Given the description of an element on the screen output the (x, y) to click on. 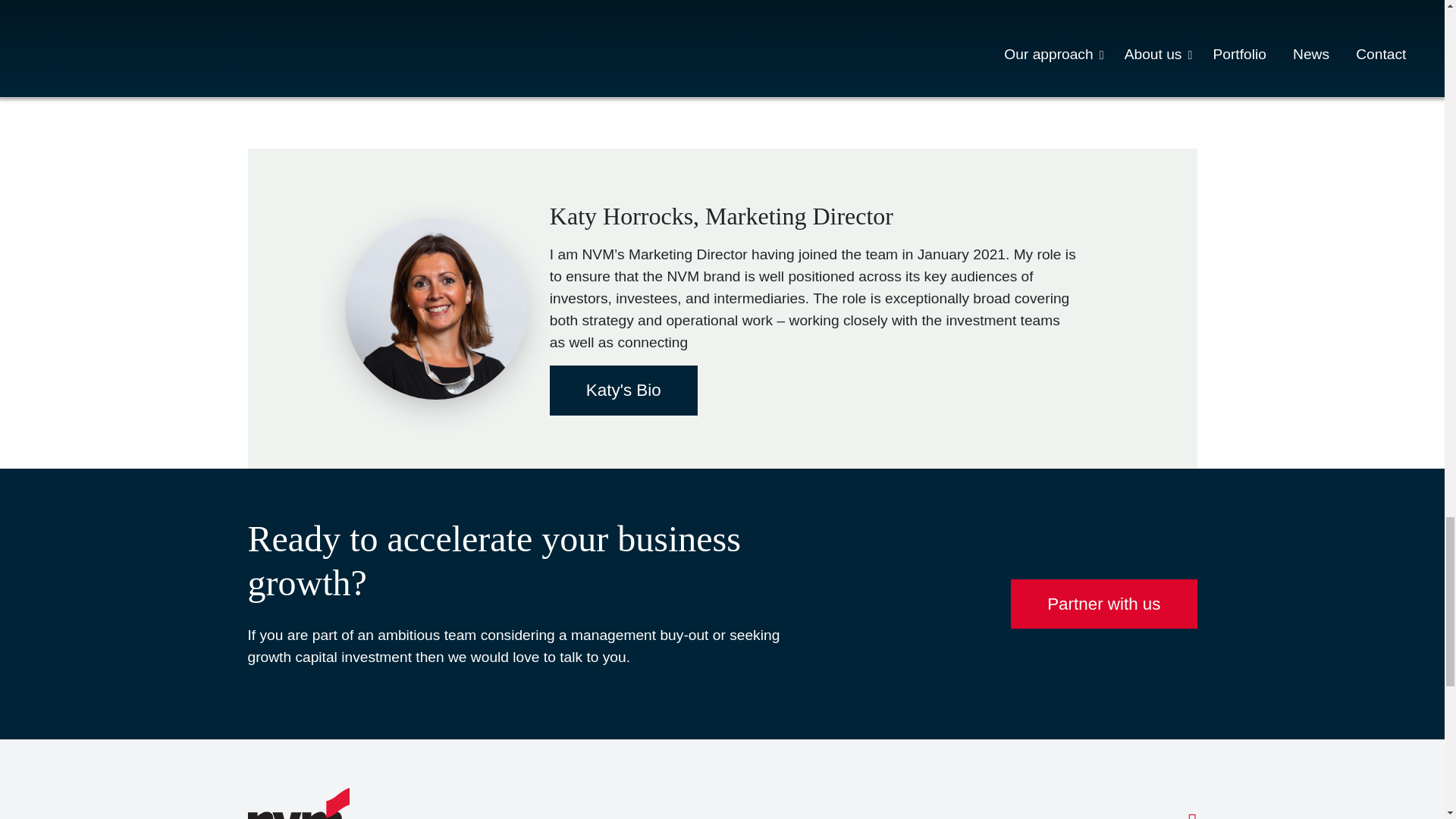
Katy's Bio (623, 390)
Partner with us (1103, 604)
www.nvm.co.uk (824, 65)
